Given the description of an element on the screen output the (x, y) to click on. 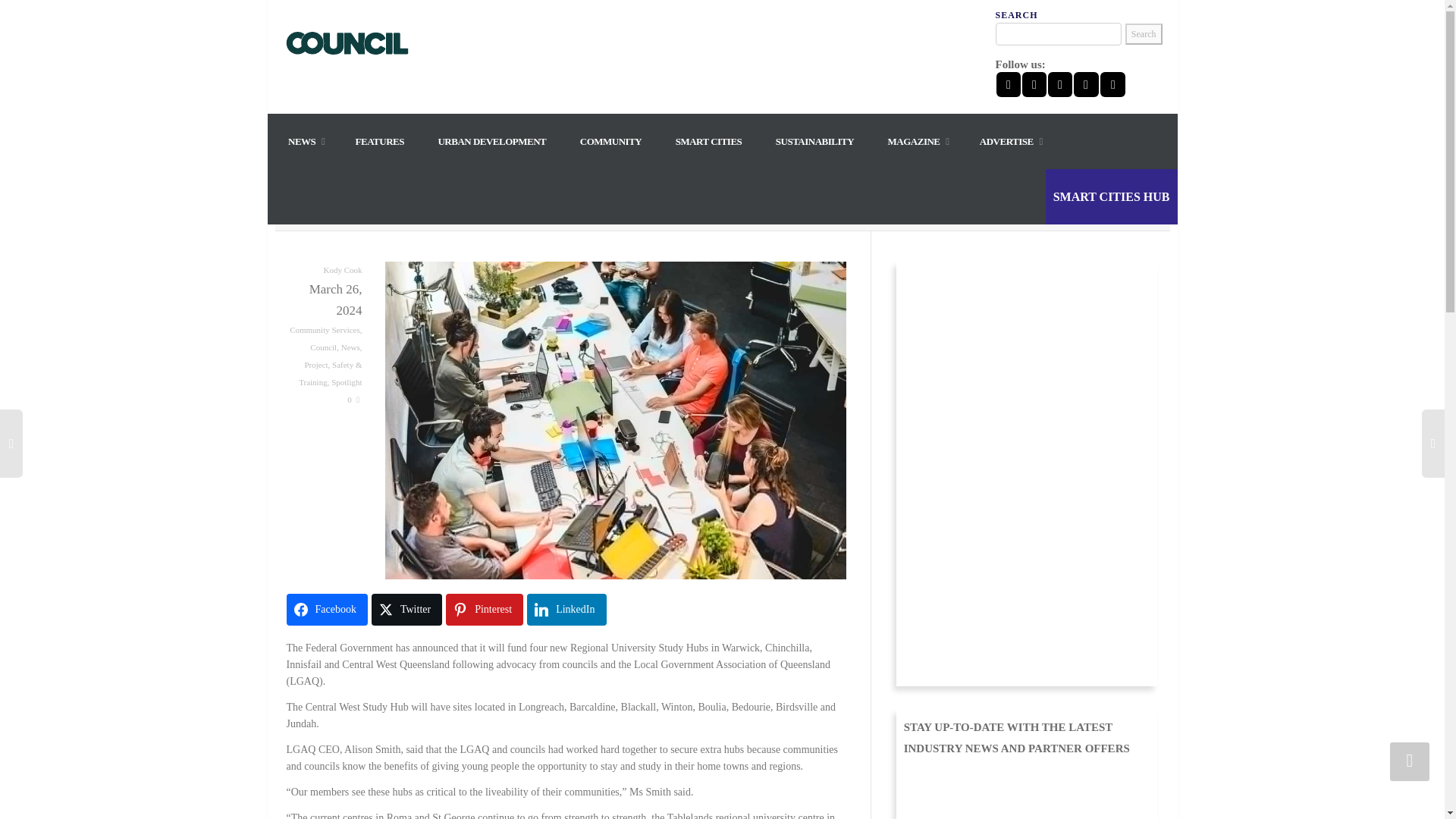
Facebook (327, 609)
Project (315, 364)
Community (610, 140)
Urban Development (492, 140)
Spotlight (346, 381)
March 26, 2024 (324, 300)
Council (323, 347)
Community Services (324, 329)
LinkedIn (566, 609)
MAGAZINE (917, 140)
